Given the description of an element on the screen output the (x, y) to click on. 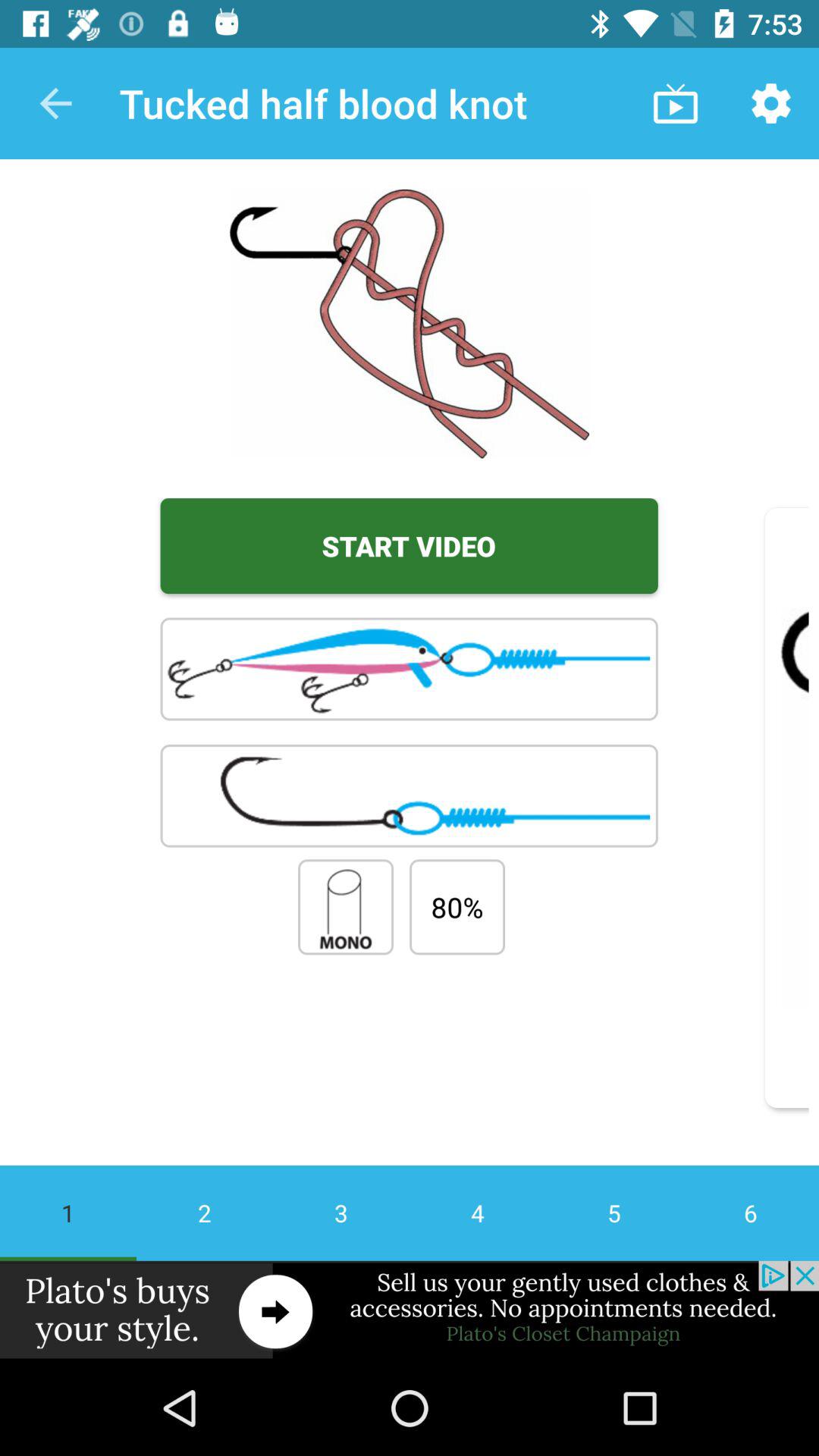
open advertisement (409, 1310)
